Given the description of an element on the screen output the (x, y) to click on. 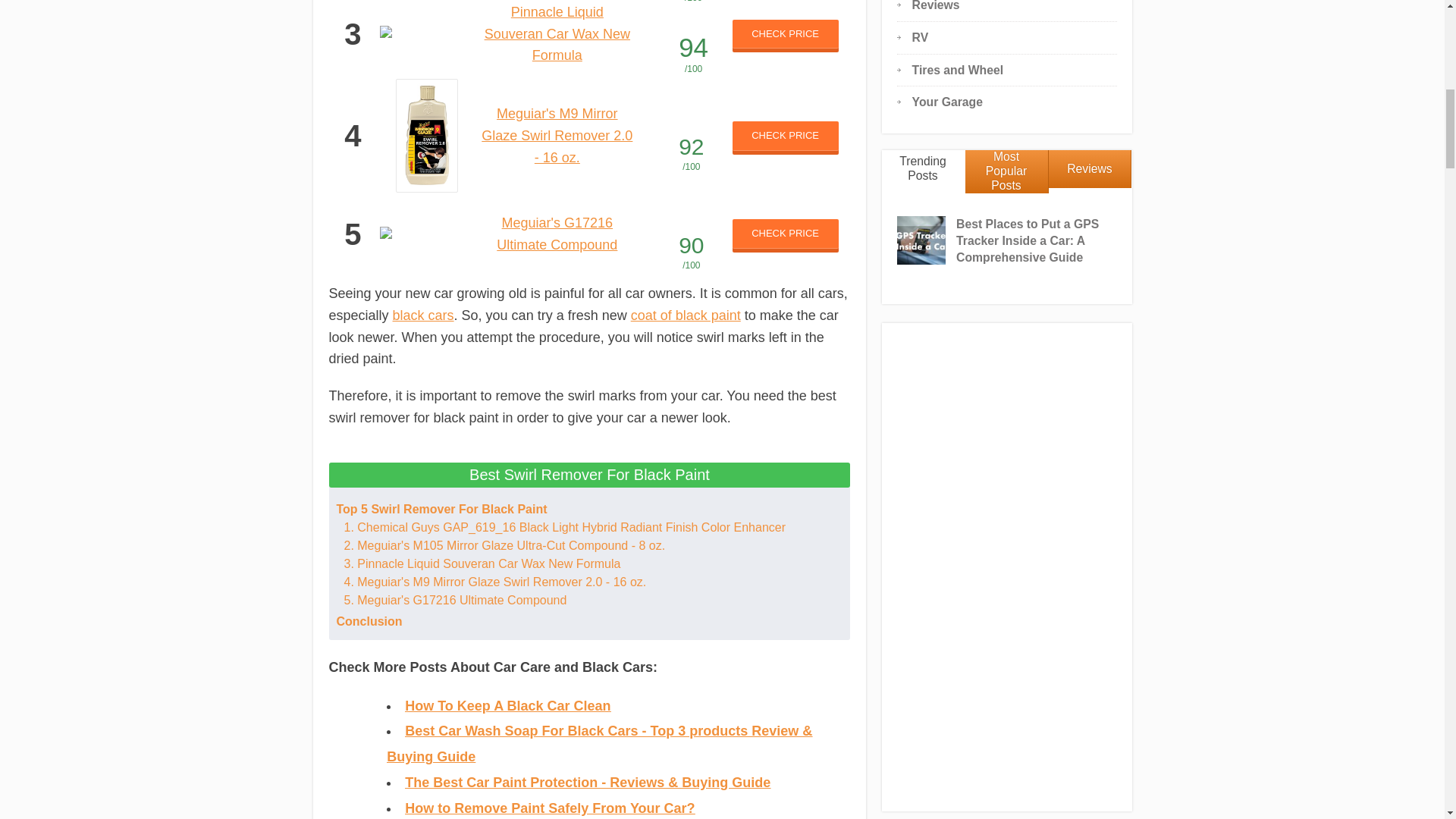
3 Best Clear Coat Spray Paints In 2021 (685, 314)
Pinnacle Liquid Souveran Car Wax New Formula (557, 33)
Meguiar's M9 Mirror Glaze Swirl Remover 2.0 - 16 oz. (556, 135)
Meguiar's G17216 Ultimate Compound (556, 233)
CHECK PRICE (785, 135)
black cars (423, 314)
CHECK PRICE (785, 34)
CHECK PRICE (785, 233)
